Given the description of an element on the screen output the (x, y) to click on. 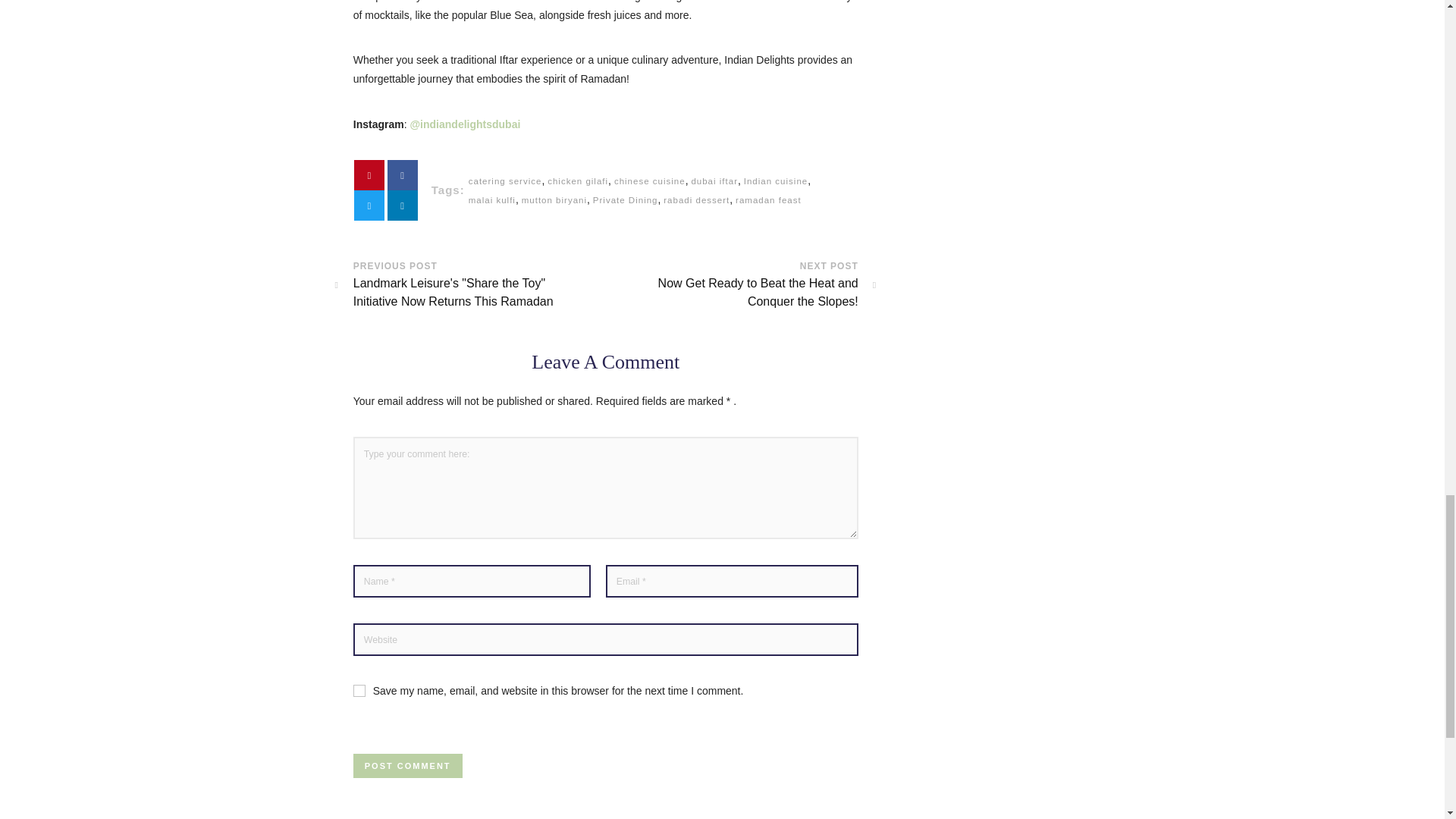
chicken gilafi (577, 181)
catering service (504, 181)
yes (359, 690)
dubai iftar (714, 181)
ramadan feast (768, 200)
malai kulfi (491, 200)
chinese cuisine (649, 181)
rabadi dessert (696, 200)
Indian cuisine (776, 181)
mutton biryani (553, 200)
Private Dining (625, 200)
Post Comment (408, 765)
Post Comment (408, 765)
